Given the description of an element on the screen output the (x, y) to click on. 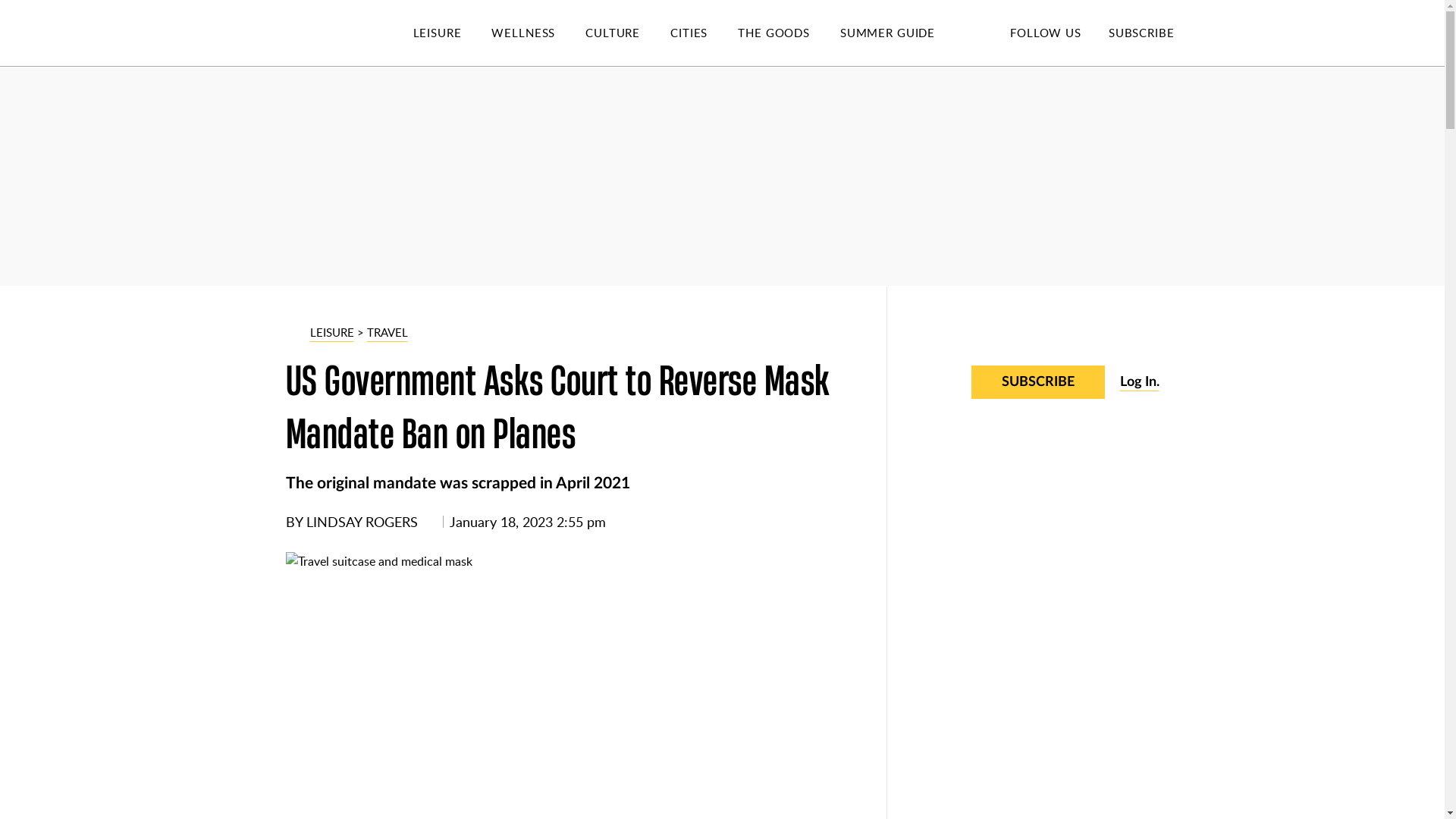
CULTURE (627, 32)
WELLNESS (538, 32)
SUMMER GUIDE (902, 32)
THE GOODS (789, 32)
CITIES (703, 32)
SUBSCRIBE (1141, 31)
FOLLOW US (1045, 32)
LEISURE (452, 32)
